Given the description of an element on the screen output the (x, y) to click on. 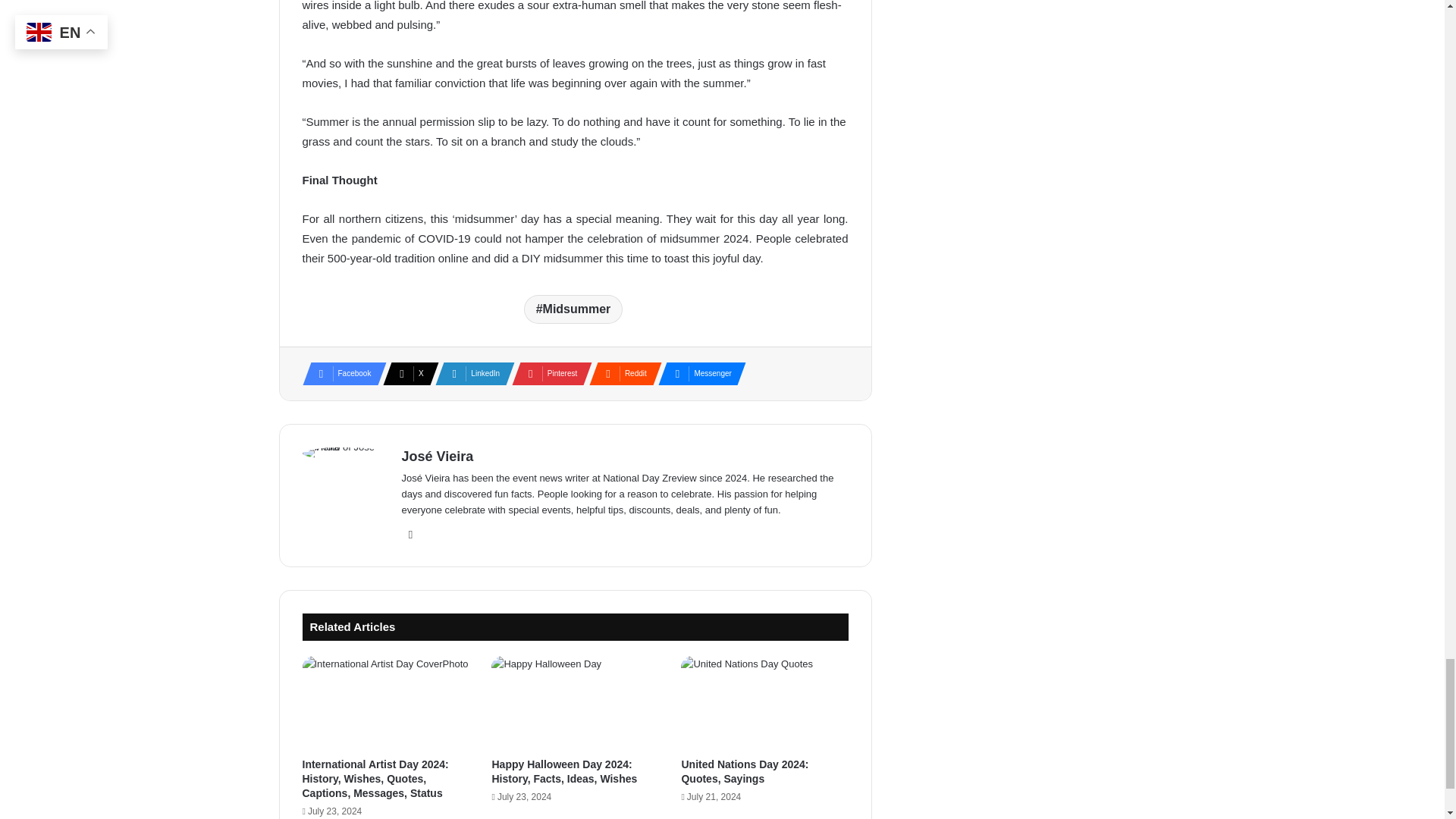
Reddit (620, 373)
Pinterest (547, 373)
Messenger (697, 373)
Midsummer (573, 308)
X (405, 373)
LinkedIn (470, 373)
Reddit (620, 373)
LinkedIn (470, 373)
Pinterest (547, 373)
Facebook (339, 373)
Facebook (339, 373)
X (405, 373)
Messenger (697, 373)
